Given the description of an element on the screen output the (x, y) to click on. 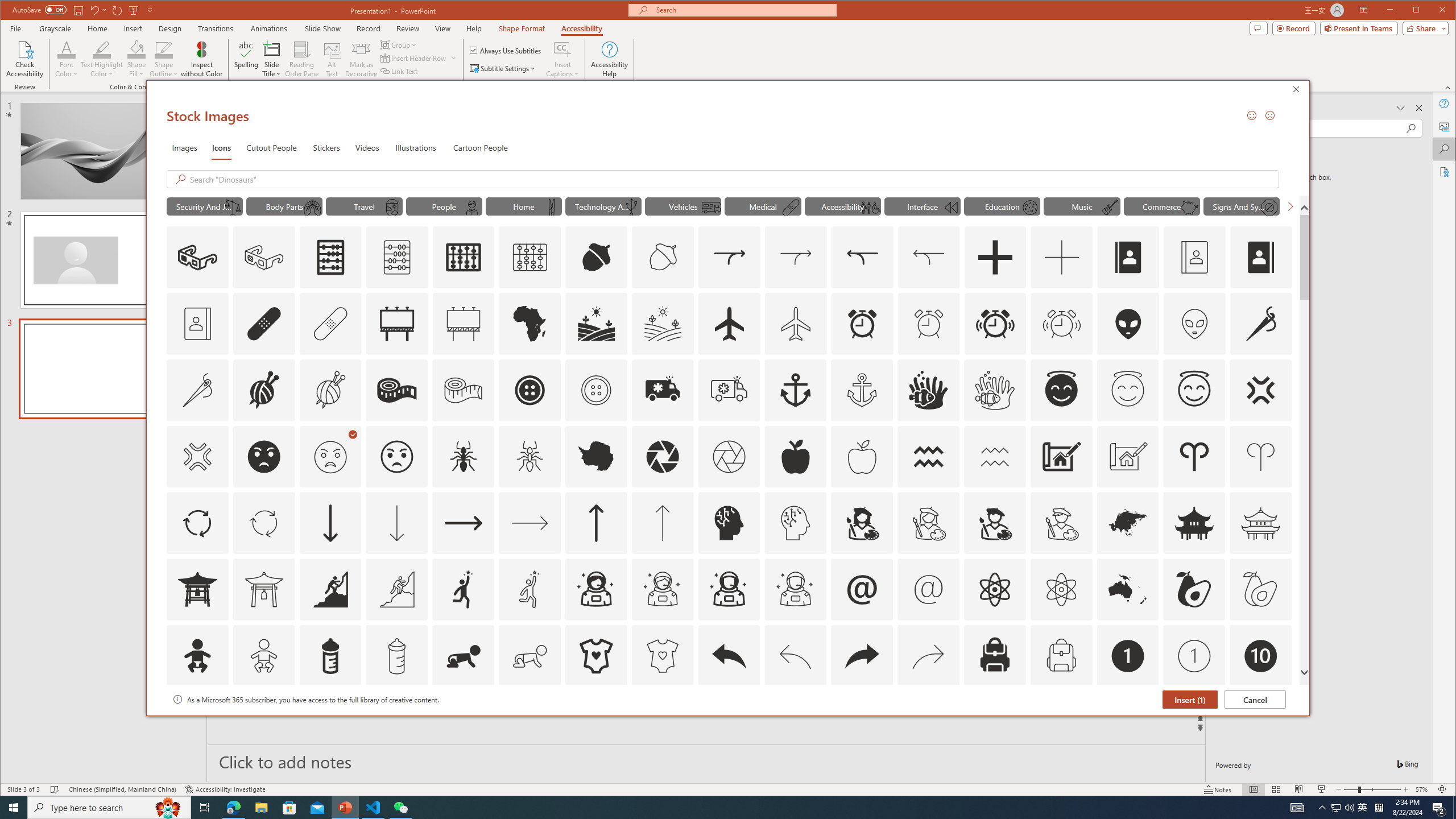
AutomationID: Icons_AlarmRinging_M (1061, 323)
Search "Dinosaurs" (731, 179)
AutomationID: Icons_BabyBottle (330, 655)
AutomationID: Icons_BabyBottle_M (397, 655)
AutomationID: Icons_BabyOnesie (595, 655)
AutomationID: Icons_Acquisition_RTL_M (928, 256)
AutomationID: Icons_UniversalAccess_M (870, 207)
AutomationID: Icons_Aperture (662, 456)
AutomationID: Icons_Avocado (1193, 589)
AutomationID: Icons_Ant (462, 456)
